Given the description of an element on the screen output the (x, y) to click on. 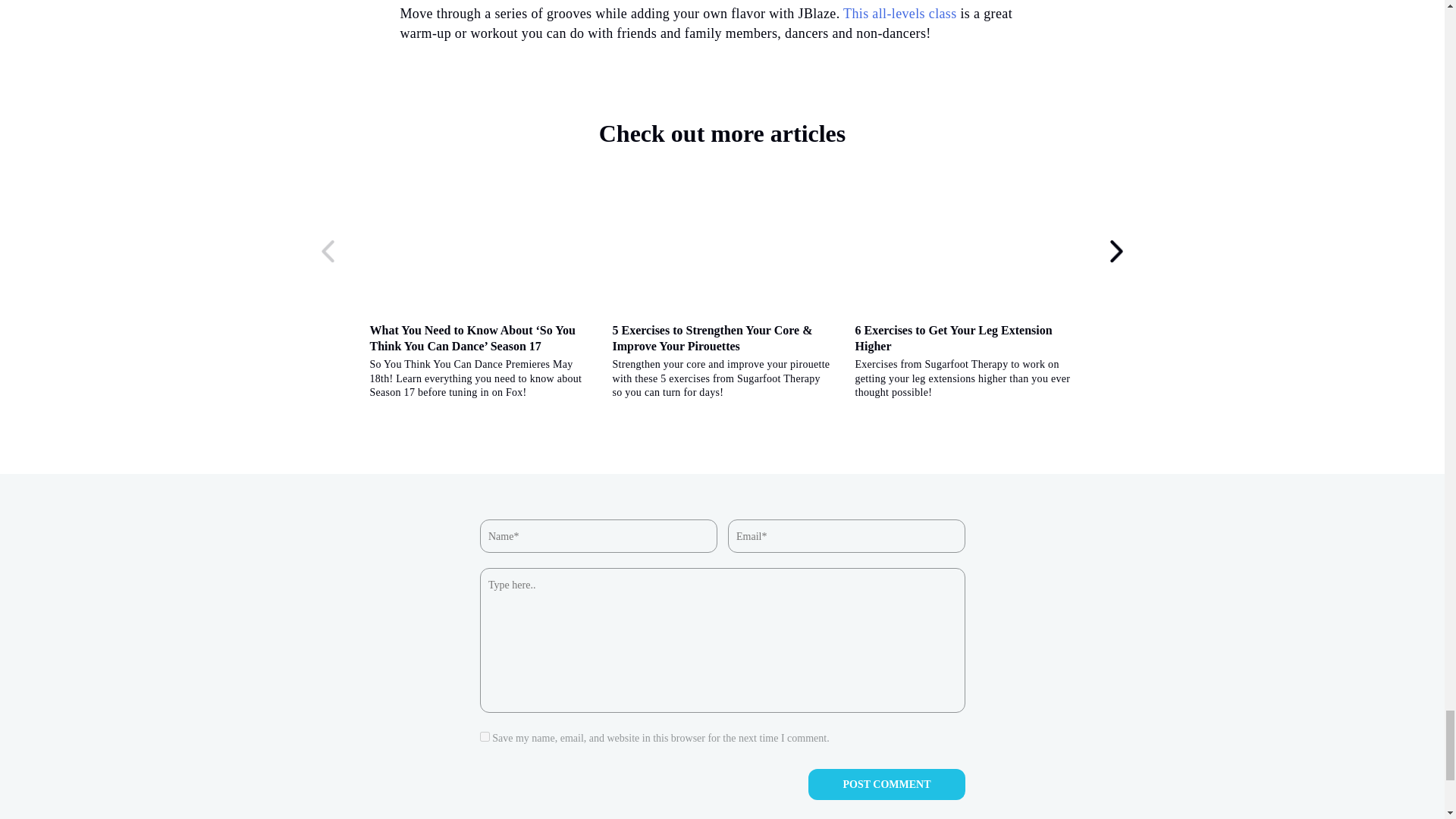
POST COMMENT (885, 784)
yes (484, 737)
